Given the description of an element on the screen output the (x, y) to click on. 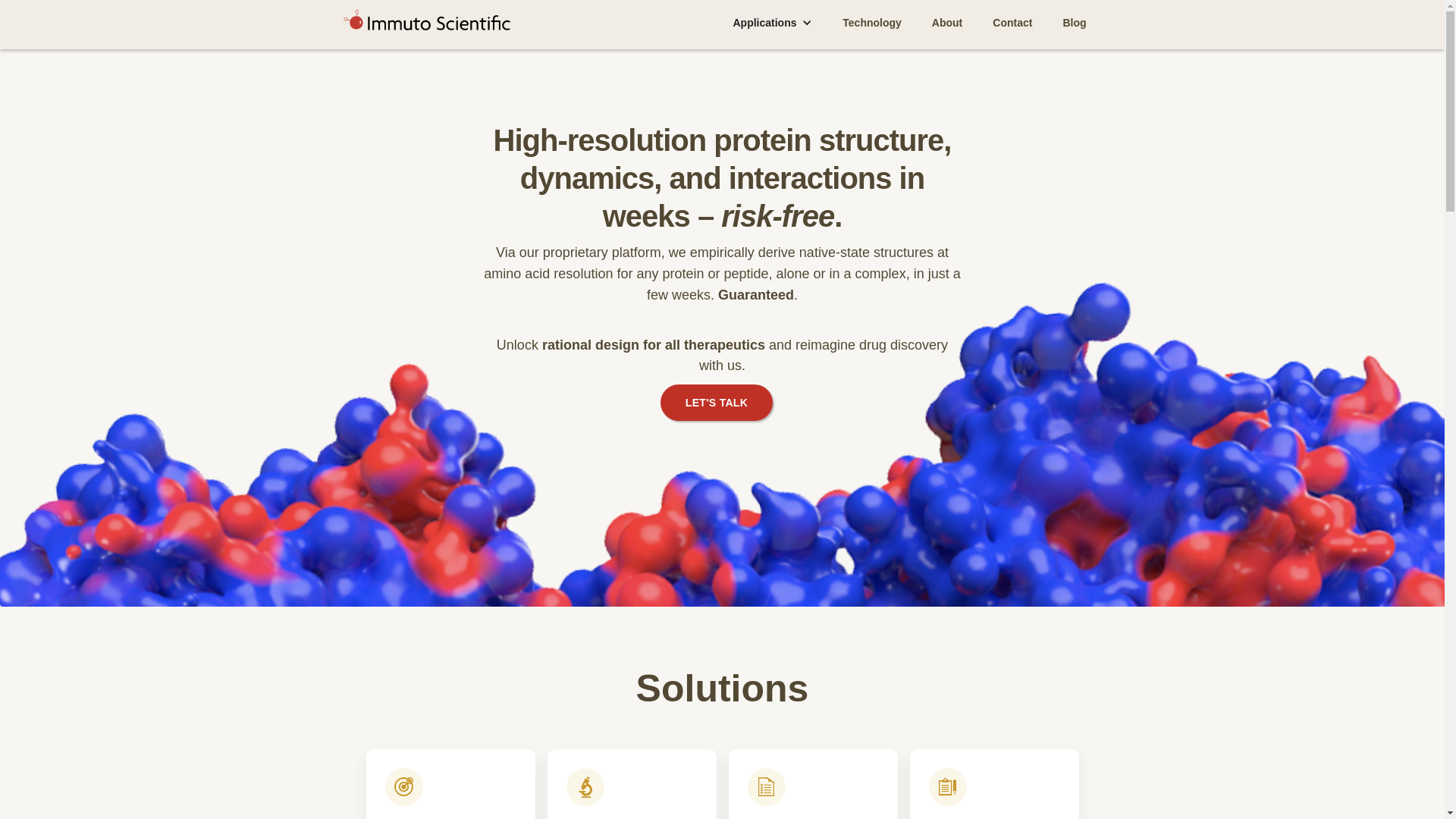
About (946, 22)
LET'S TALK (717, 402)
Contact (1011, 22)
Blog (1073, 22)
Technology (872, 22)
